Given the description of an element on the screen output the (x, y) to click on. 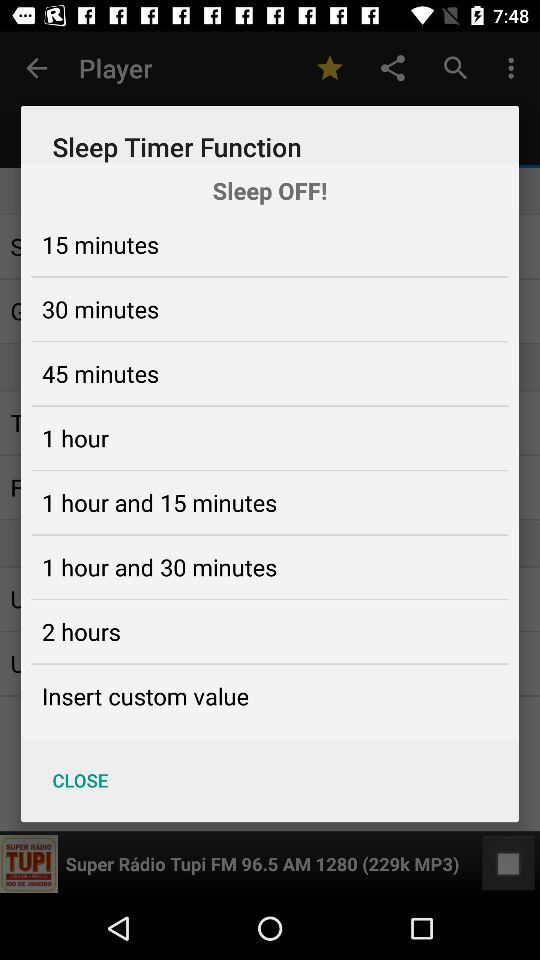
select the icon below the 30 minutes item (100, 373)
